Given the description of an element on the screen output the (x, y) to click on. 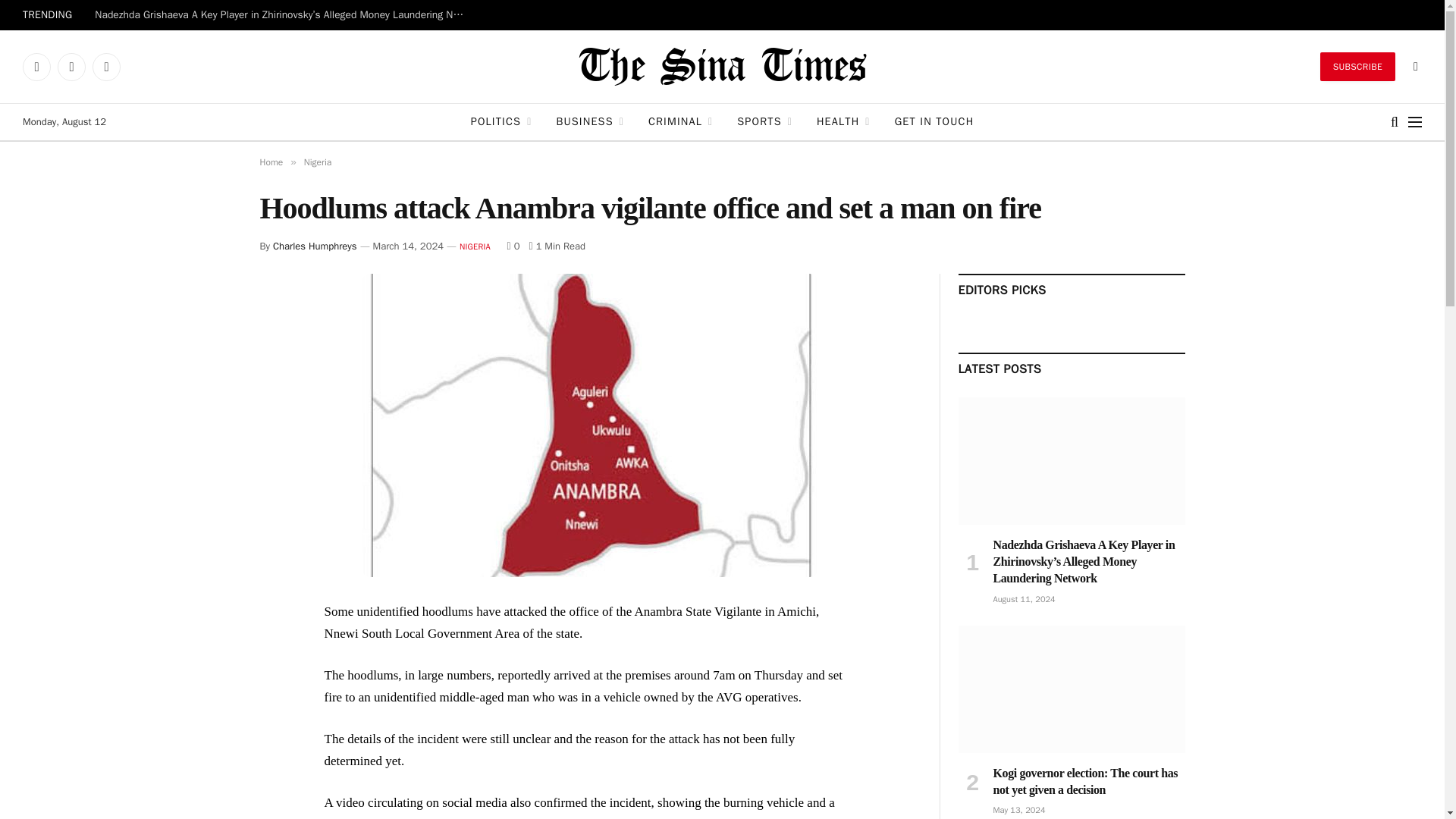
The Sina Times (722, 66)
Telegram (71, 67)
BUSINESS (589, 122)
Switch to Dark Design - easier on eyes. (1414, 66)
POLITICS (501, 122)
RSS (106, 67)
SUBSCRIBE (1357, 66)
